Given the description of an element on the screen output the (x, y) to click on. 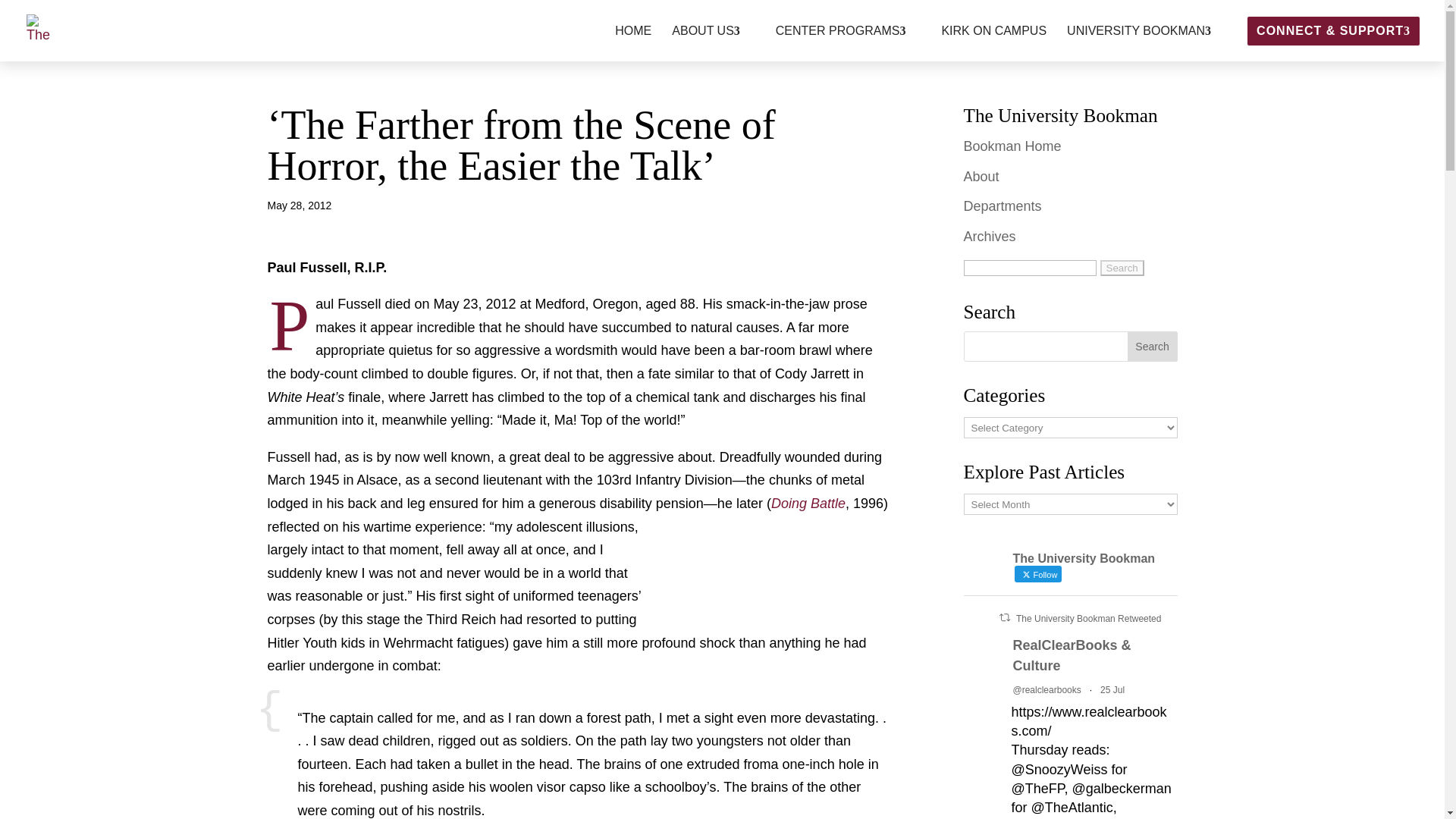
HOME (632, 43)
KIRK ON CAMPUS (993, 43)
Doing Battle (808, 503)
Search (1122, 268)
ABOUT US (713, 43)
UNIVERSITY BOOKMAN (1146, 43)
CENTER PROGRAMS (848, 43)
Search (1151, 346)
